Given the description of an element on the screen output the (x, y) to click on. 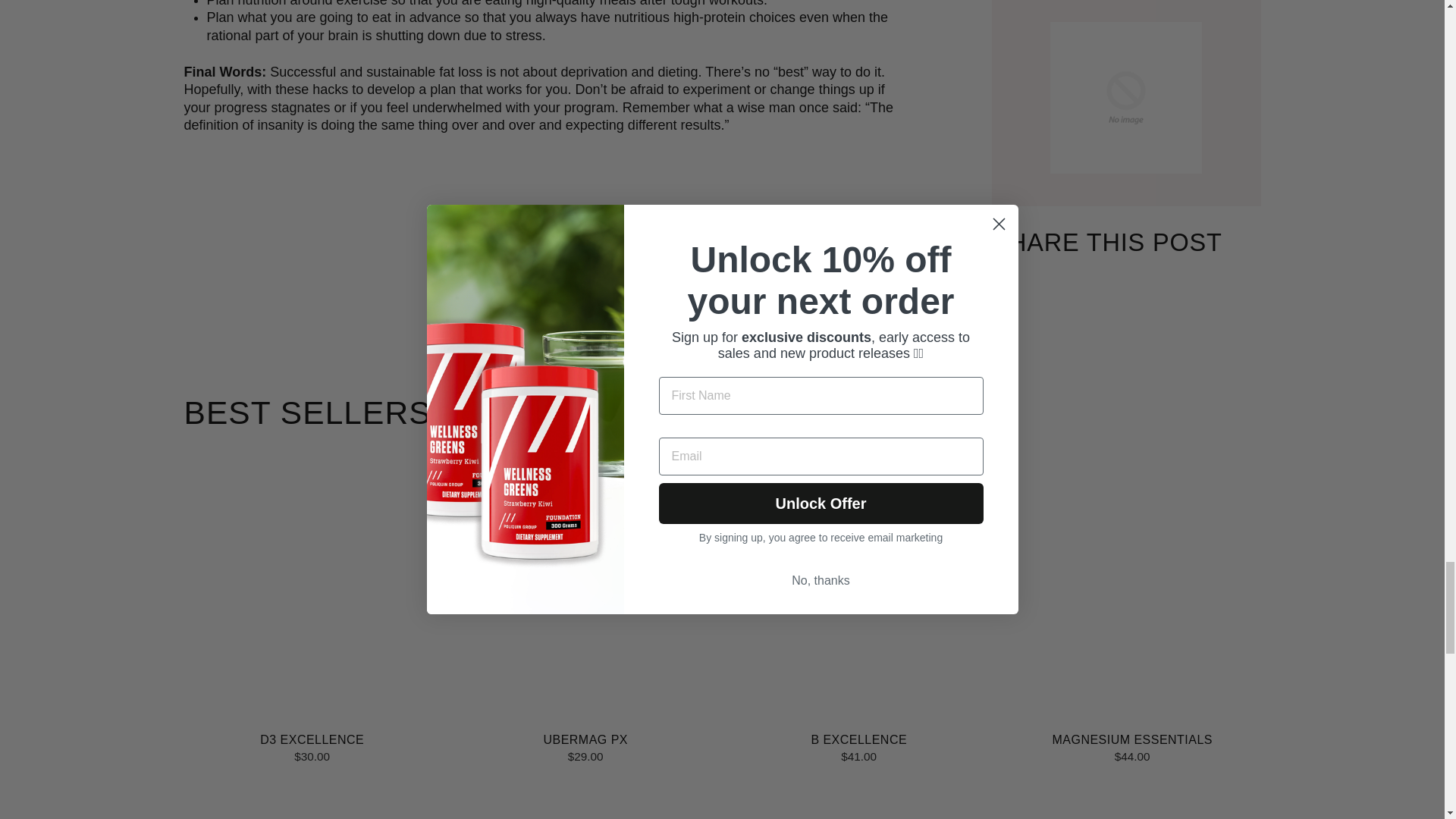
ICON-LEFT-ARROW (638, 260)
